Given the description of an element on the screen output the (x, y) to click on. 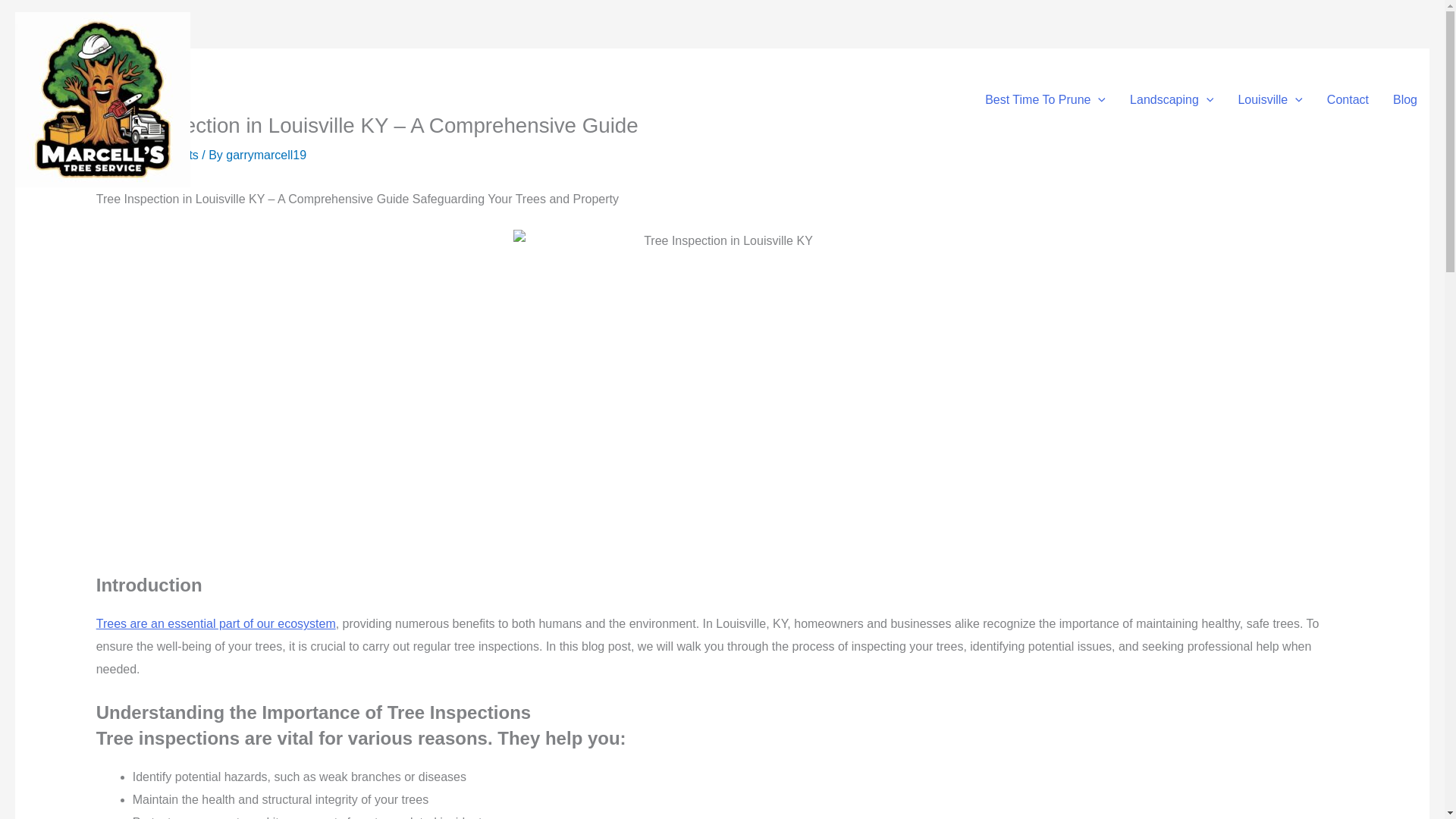
Louisville (1269, 99)
Trees are an essential part of our ecosystem (216, 623)
Landscaping (1171, 99)
Contact (1347, 99)
garrymarcell19 (265, 154)
Best Time To Prune (1045, 99)
View all posts by garrymarcell19 (265, 154)
Problems -- Facts (150, 154)
Blog (1404, 99)
